Given the description of an element on the screen output the (x, y) to click on. 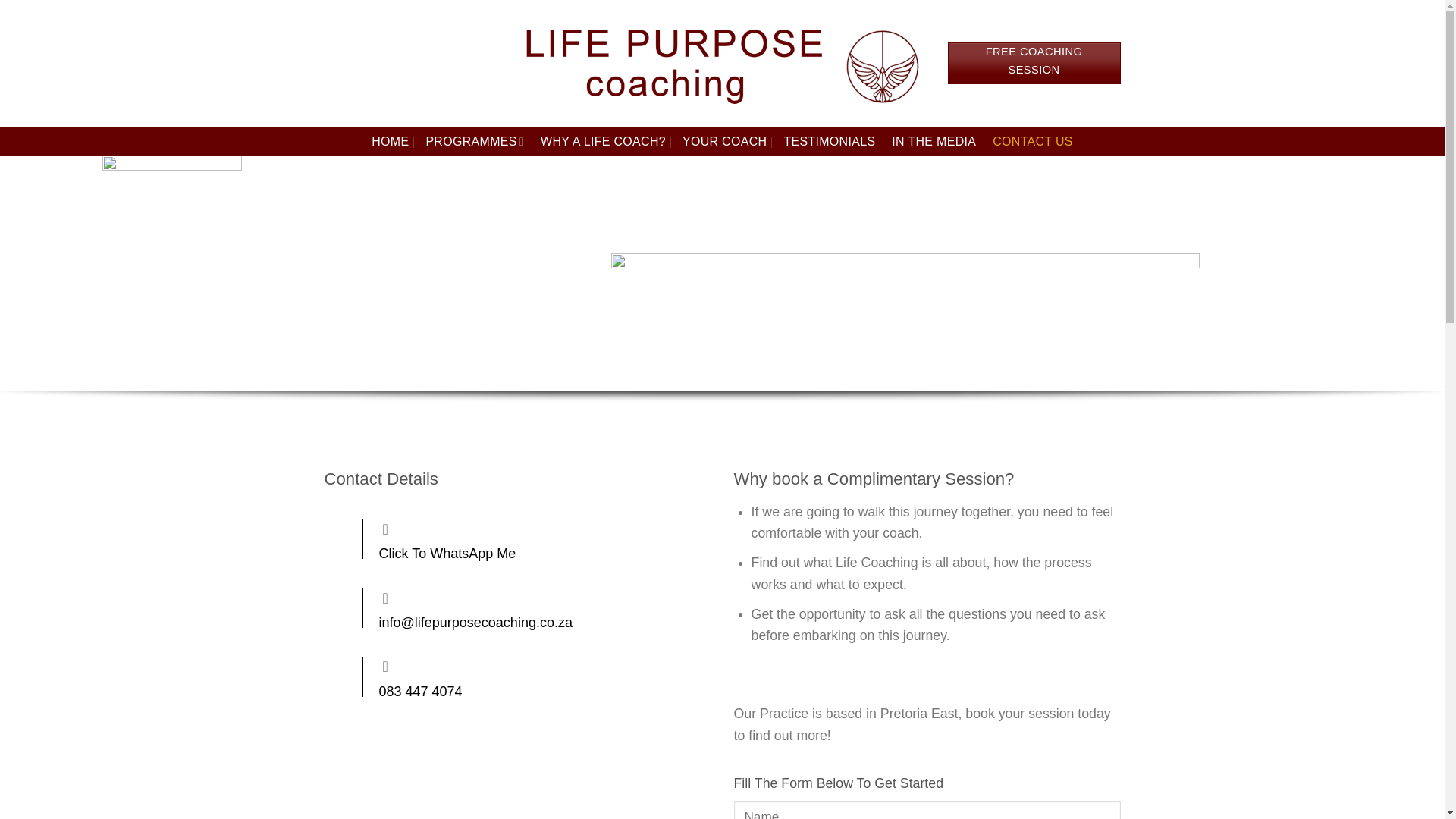
HOME (390, 141)
header2 (905, 292)
FREE COACHING SESSION (1034, 63)
header1 (171, 259)
083 447 4074 (517, 676)
Life Coach Pretoria East By Life Purpose Coaching (721, 62)
YOUR COACH (724, 141)
TESTIMONIALS (829, 141)
PROGRAMMES (474, 141)
CONTACT US (1032, 141)
WHY A LIFE COACH? (602, 141)
IN THE MEDIA (933, 141)
Click To WhatsApp Me (517, 538)
